Given the description of an element on the screen output the (x, y) to click on. 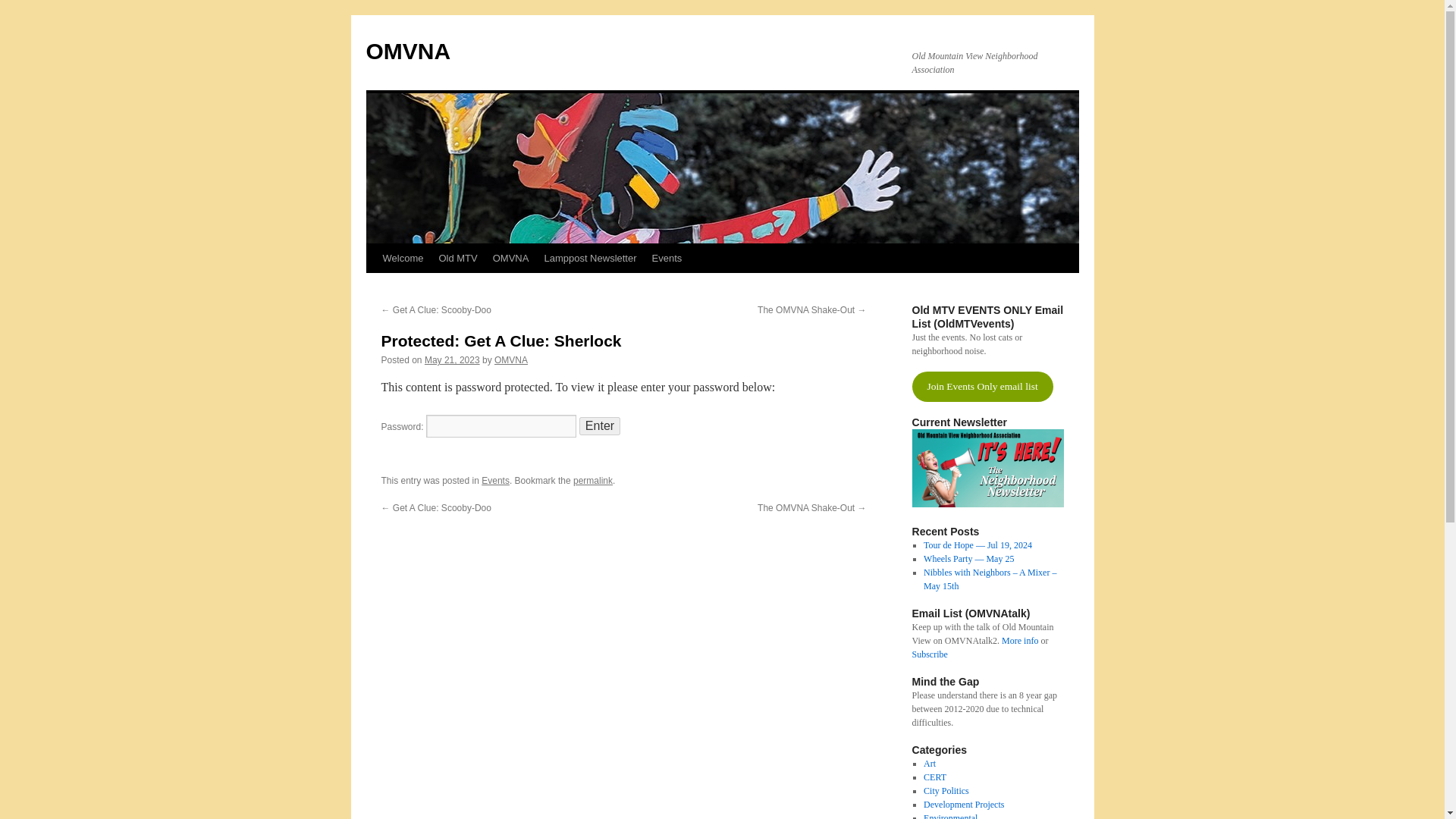
Events (495, 480)
Events (667, 258)
Welcome (402, 258)
OMVNA (510, 258)
OMVNA (511, 359)
Lamppost Newsletter (589, 258)
3:50 pm (452, 359)
OMVNA (407, 50)
May 21, 2023 (452, 359)
Enter (599, 425)
Old MTV (457, 258)
View all posts by OMVNA (511, 359)
permalink (592, 480)
Enter (599, 425)
Permalink to Protected: Get A Clue: Sherlock (592, 480)
